Given the description of an element on the screen output the (x, y) to click on. 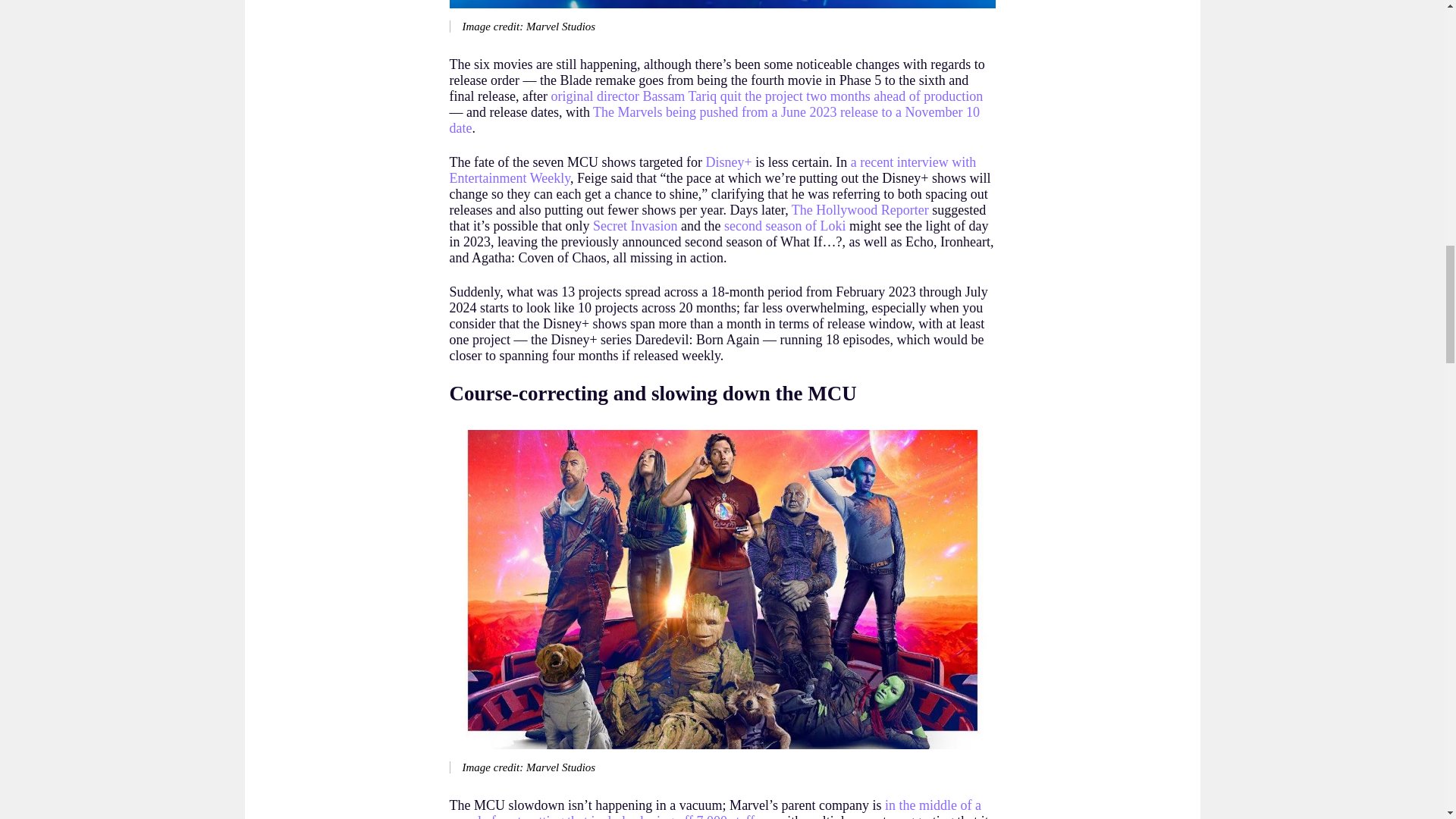
second season of Loki (784, 225)
Secret Invasion (634, 225)
a recent interview with Entertainment Weekly (711, 169)
The Hollywood Reporter (860, 209)
